Given the description of an element on the screen output the (x, y) to click on. 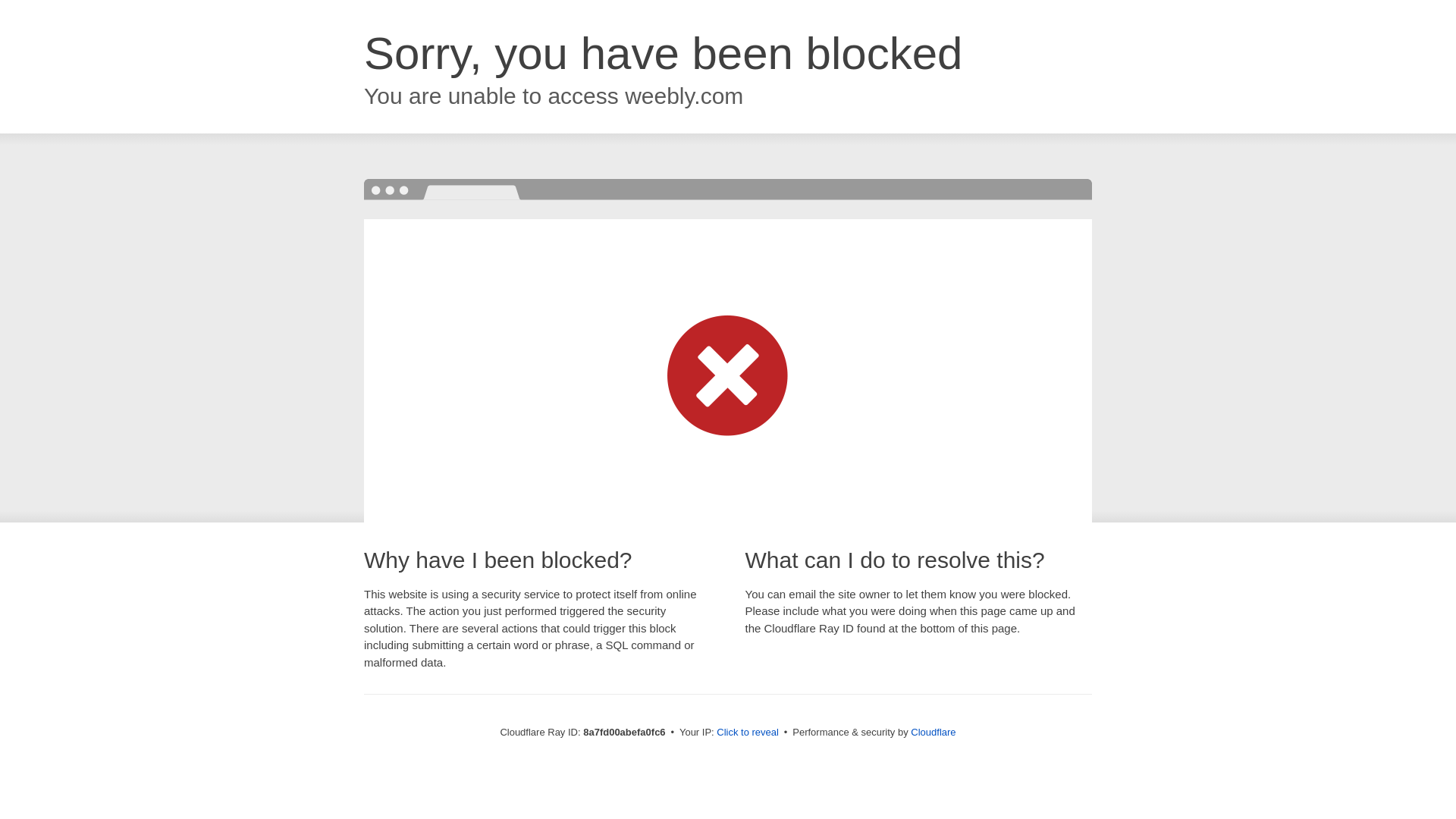
Click to reveal (747, 732)
Cloudflare (933, 731)
